Given the description of an element on the screen output the (x, y) to click on. 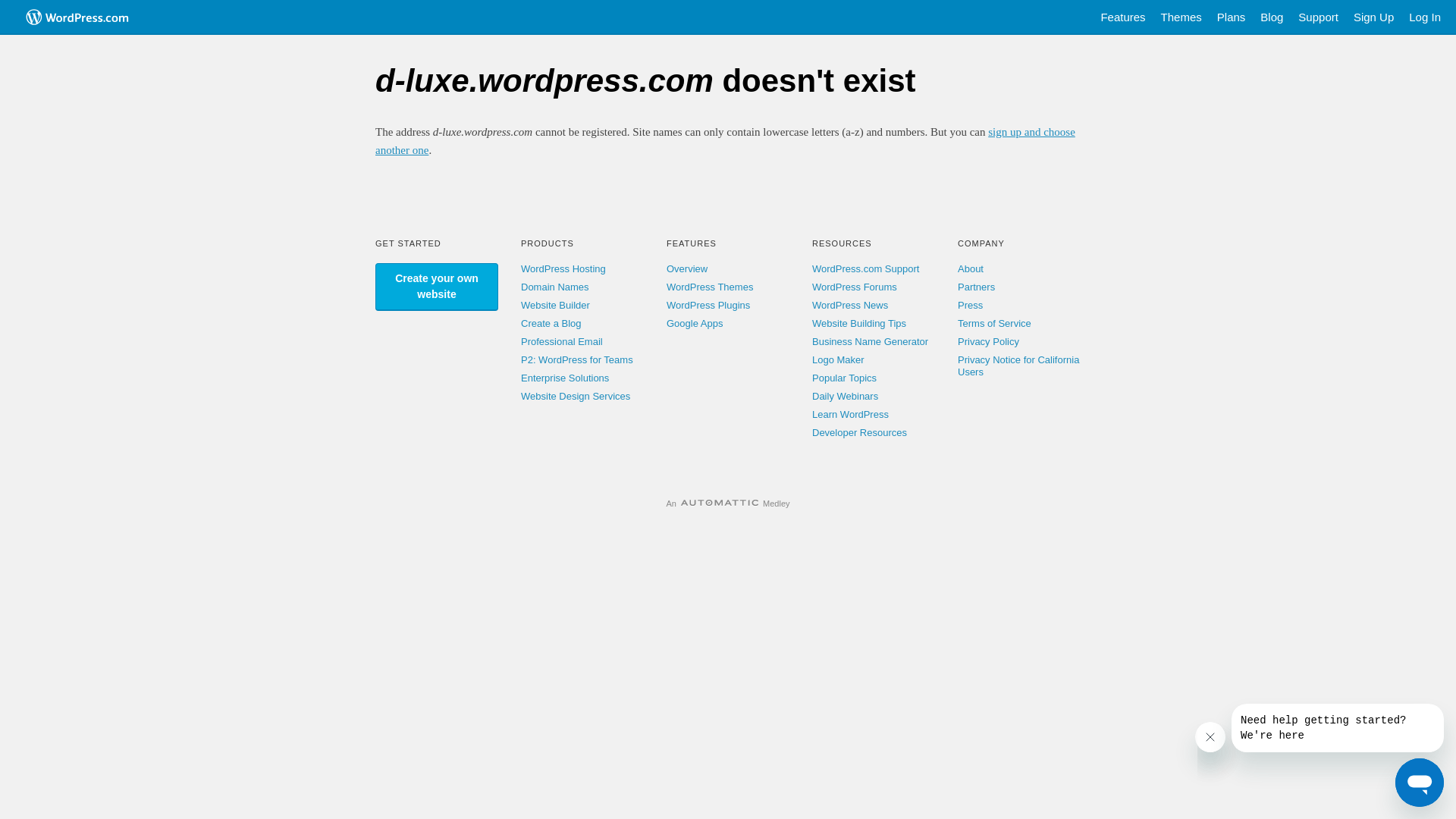
Website Design Services Element type: text (575, 395)
Message from company Element type: hover (1337, 727)
Features Element type: text (1122, 17)
About Element type: text (970, 268)
Log In Element type: text (1424, 17)
Partners Element type: text (975, 286)
Privacy Policy Element type: text (988, 341)
Logo Maker Element type: text (838, 359)
Enterprise Solutions Element type: text (564, 377)
Daily Webinars Element type: text (845, 395)
WordPress Plugins Element type: text (707, 304)
Close message Element type: hover (1210, 736)
WordPress News Element type: text (850, 304)
Support Element type: text (1318, 17)
Blog Element type: text (1271, 17)
Sign Up Element type: text (1373, 17)
Button to launch messaging window Element type: hover (1419, 782)
Popular Topics Element type: text (844, 377)
WordPress Themes Element type: text (709, 286)
Automattic Element type: text (719, 503)
Google Apps Element type: text (694, 323)
Plans Element type: text (1231, 17)
Overview Element type: text (686, 268)
Professional Email Element type: text (561, 341)
Terms of Service Element type: text (994, 323)
sign up and choose another one Element type: text (725, 140)
Create a Blog Element type: text (550, 323)
Developer Resources Element type: text (859, 432)
Press Element type: text (969, 304)
Domain Names Element type: text (554, 286)
WordPress Forums Element type: text (854, 286)
Website Building Tips Element type: text (859, 323)
Website Builder Element type: text (554, 304)
Themes Element type: text (1181, 17)
Privacy Notice for California Users Element type: text (1018, 365)
WordPress Hosting Element type: text (562, 268)
Business Name Generator Element type: text (870, 341)
WordPress.com Support Element type: text (865, 268)
Learn WordPress Element type: text (850, 414)
Create your own website Element type: text (436, 286)
P2: WordPress for Teams Element type: text (576, 359)
